Given the description of an element on the screen output the (x, y) to click on. 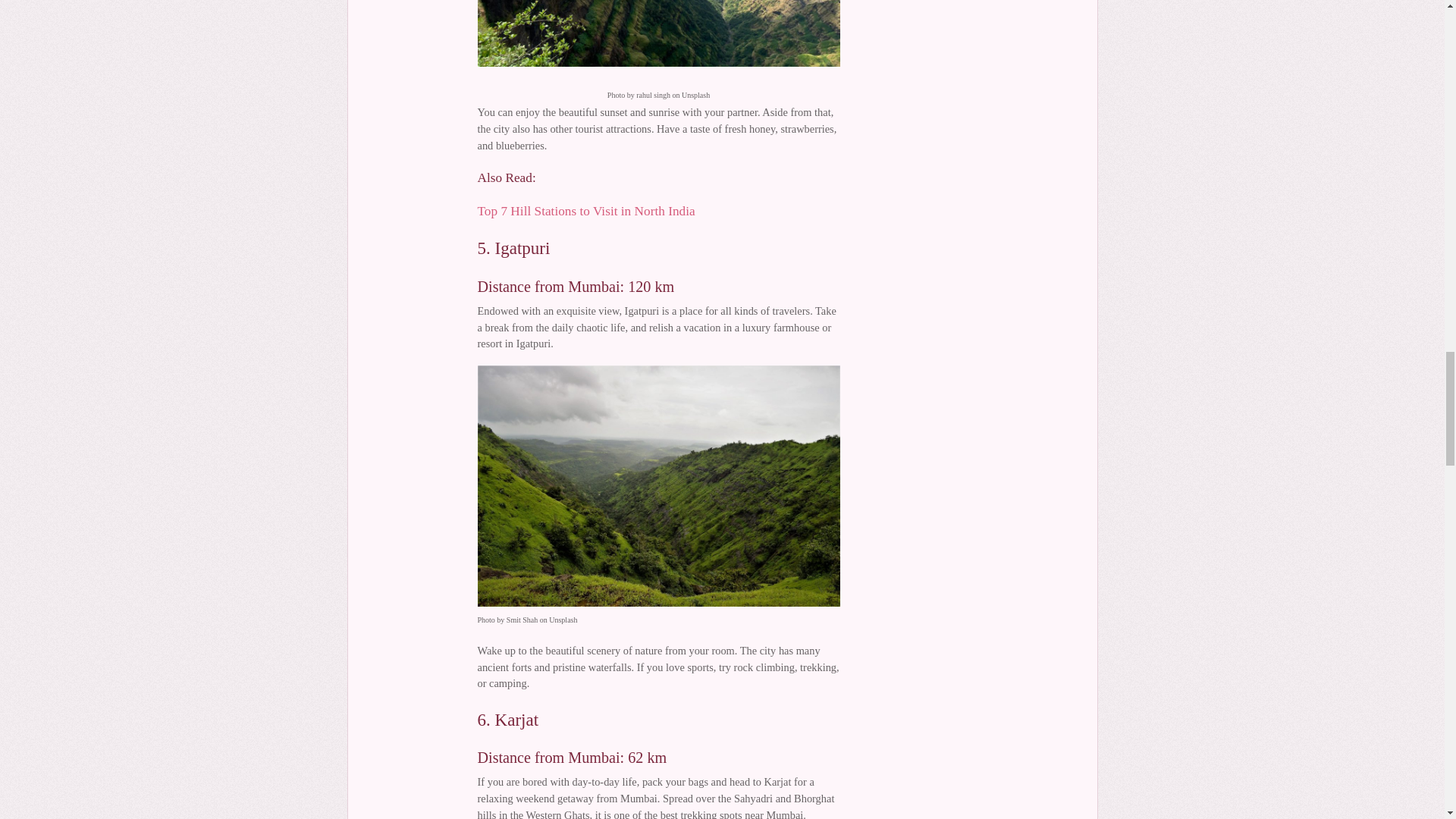
Top 7 Hill Stations to Visit in North India (586, 210)
